Given the description of an element on the screen output the (x, y) to click on. 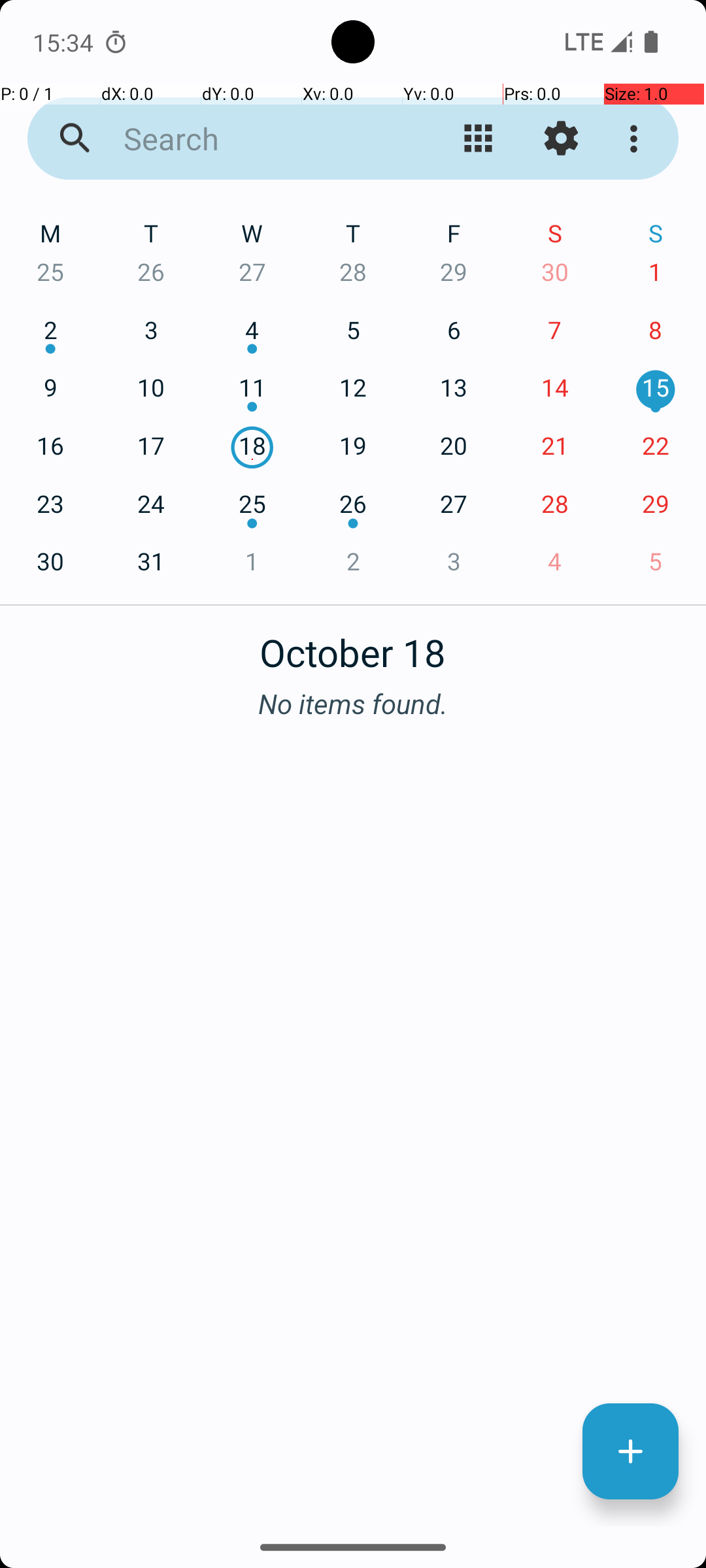
October 18 Element type: android.widget.TextView (352, 644)
